Given the description of an element on the screen output the (x, y) to click on. 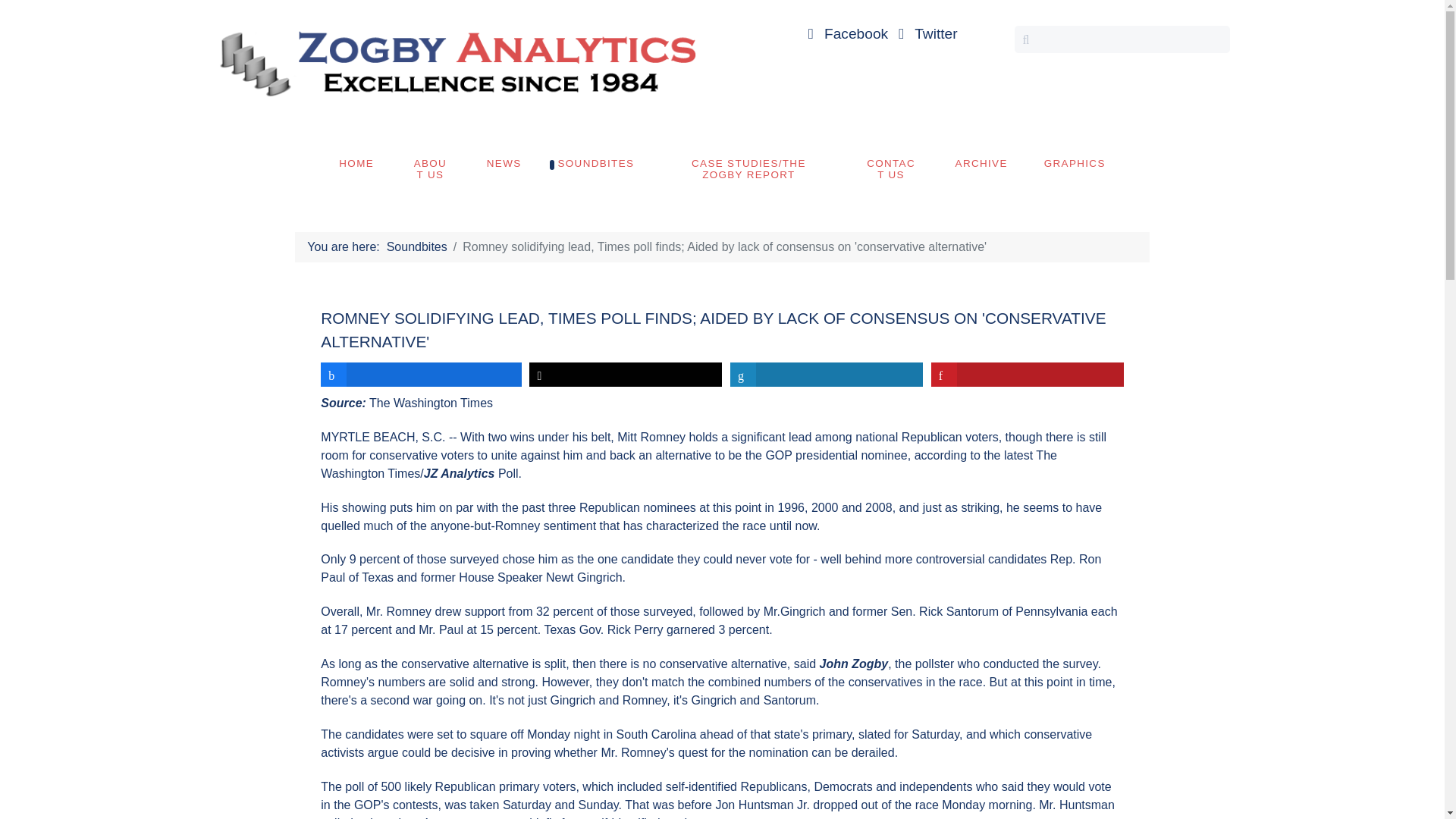
Twitter (925, 33)
ARCHIVE (981, 162)
Zogby Analytics (454, 60)
Facebook (847, 33)
SOUNDBITES (595, 162)
NEWS (504, 162)
Facebook (847, 33)
GRAPHICS (1075, 162)
Soundbites (416, 247)
Accessibility Options (16, 761)
ABOUT US (429, 168)
CONTACT US (890, 168)
Twitter (925, 33)
HOME (355, 162)
